Given the description of an element on the screen output the (x, y) to click on. 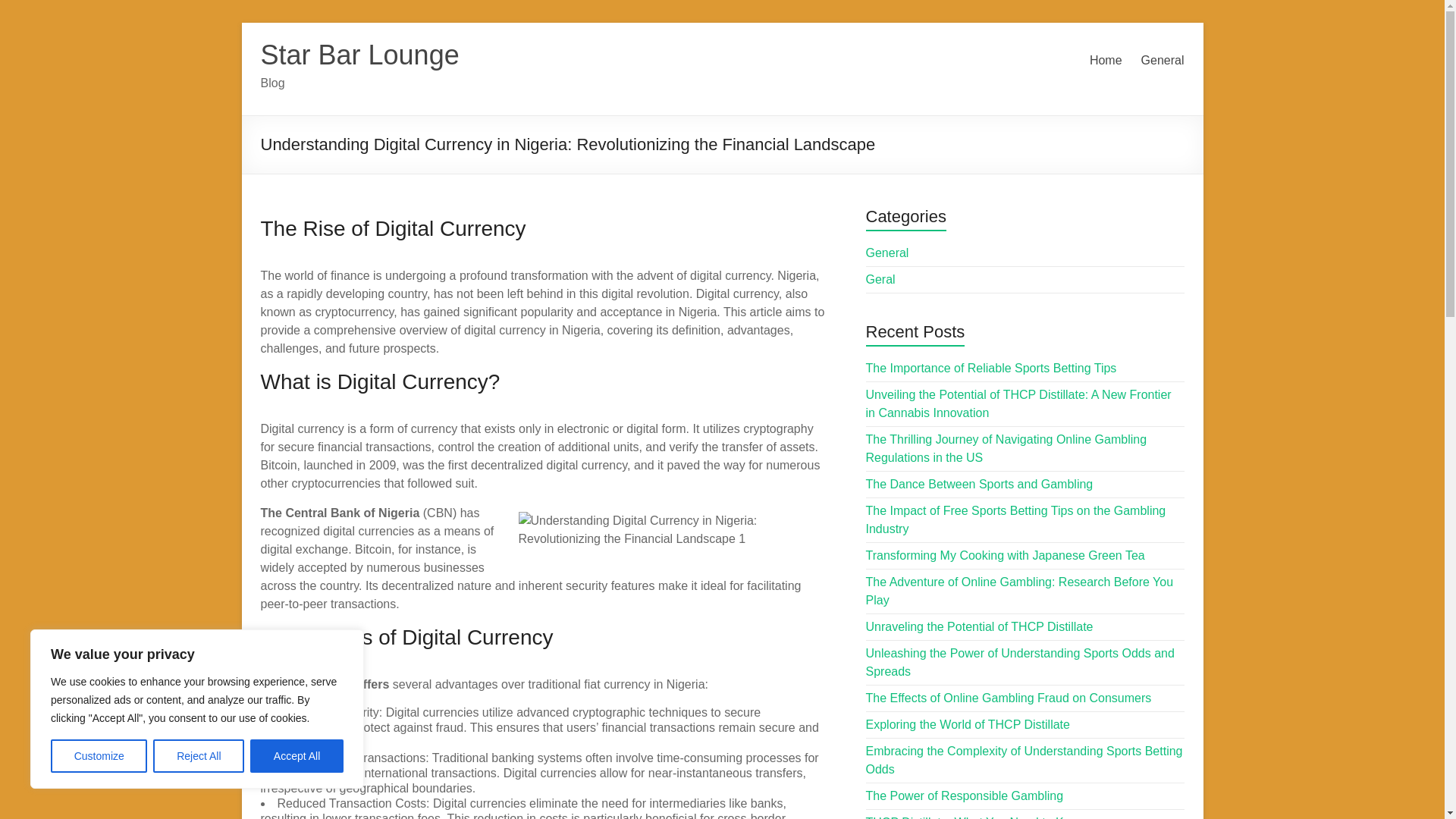
Geral (880, 278)
The Importance of Reliable Sports Betting Tips (991, 367)
Reject All (198, 756)
Transforming My Cooking with Japanese Green Tea (1005, 554)
General (887, 252)
General (1163, 60)
Accept All (296, 756)
Star Bar Lounge (360, 54)
